Given the description of an element on the screen output the (x, y) to click on. 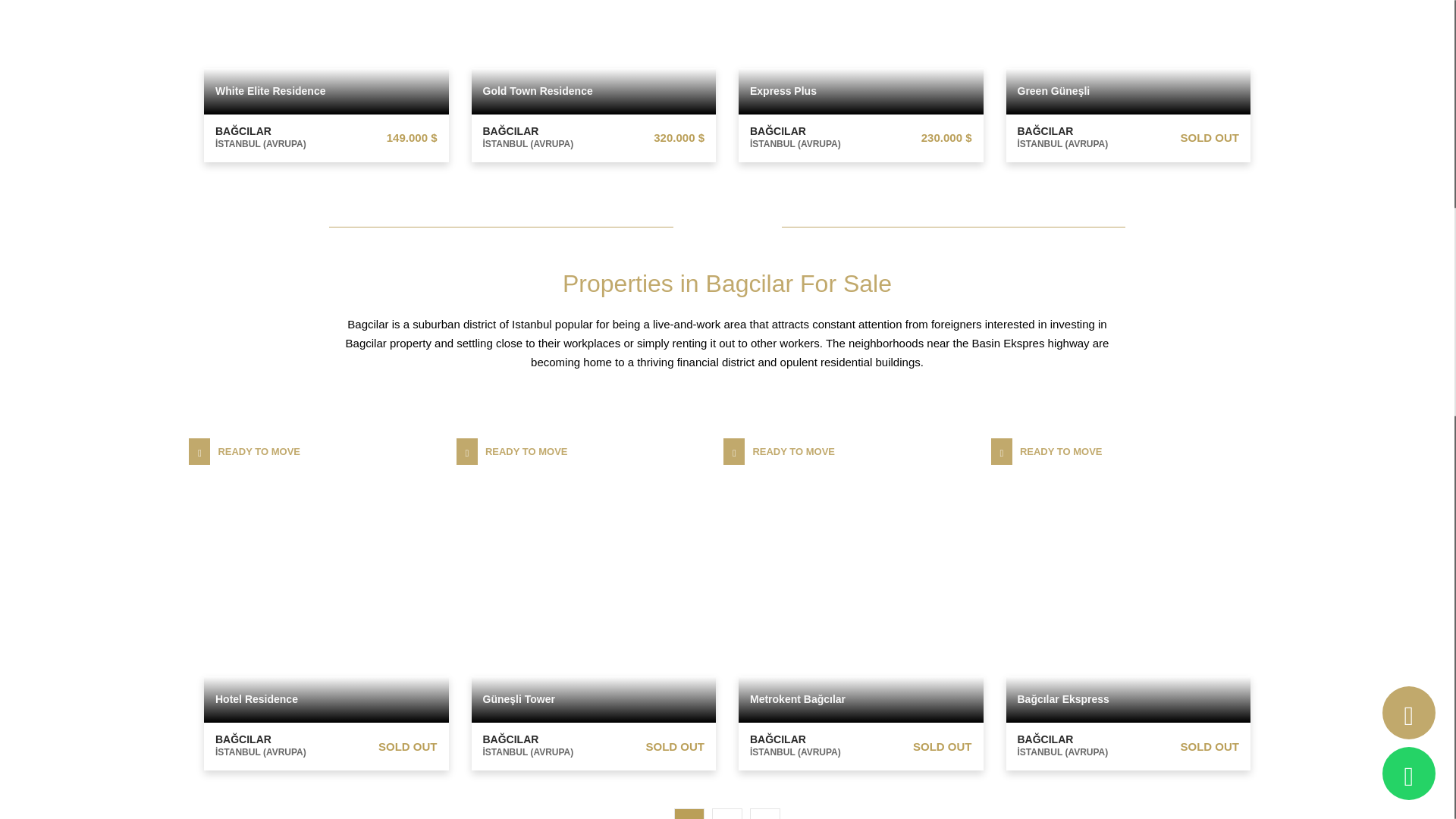
3 (764, 813)
White Elite Residence (325, 81)
Gold Town Residence (593, 81)
1 (689, 813)
Express Plus (861, 81)
2 (726, 813)
